Given the description of an element on the screen output the (x, y) to click on. 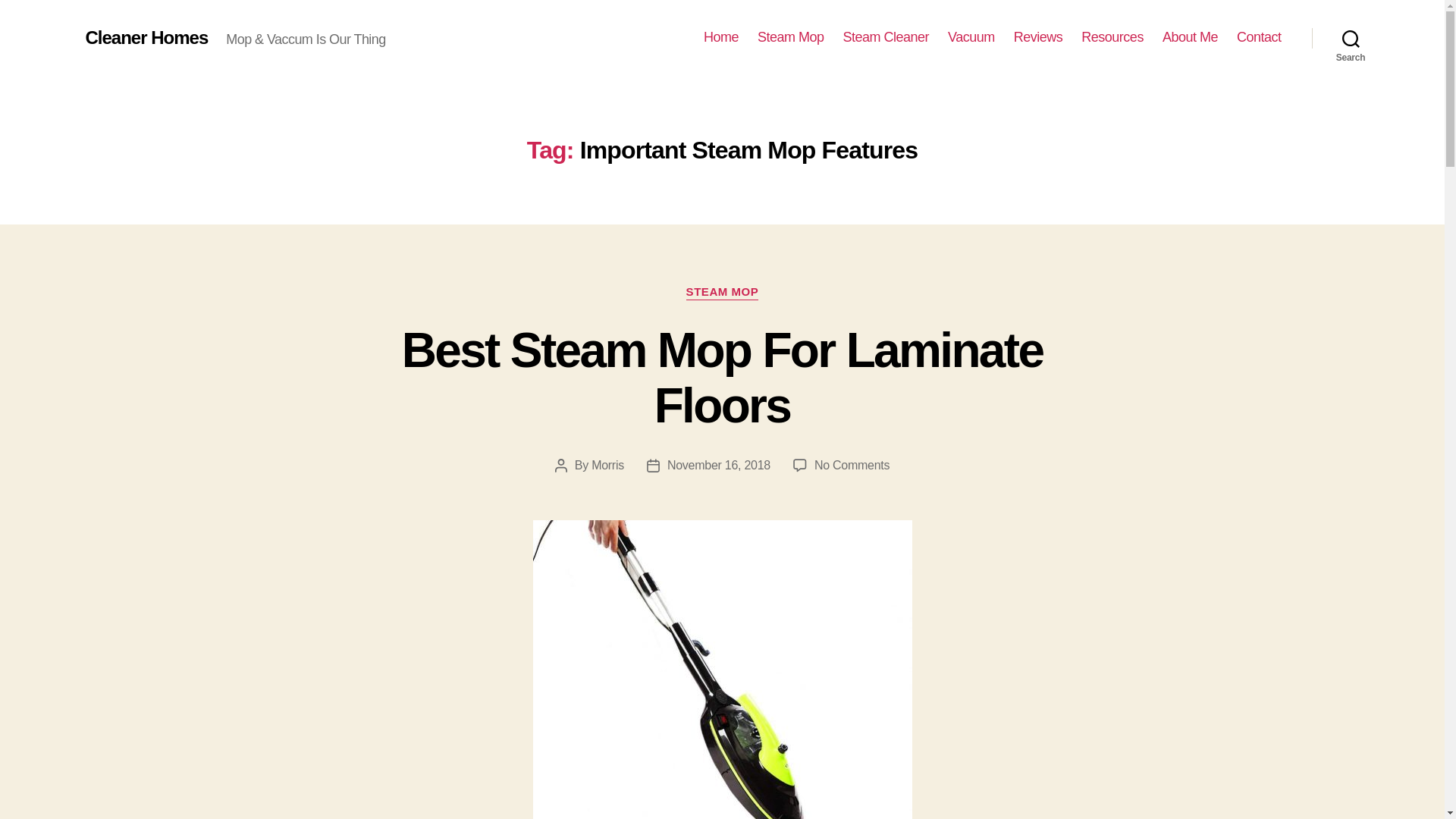
Steam Mop (790, 37)
Search (1350, 37)
November 16, 2018 (718, 464)
STEAM MOP (721, 292)
Steam Cleaner (886, 37)
Morris (607, 464)
Vacuum (970, 37)
Reviews (1037, 37)
Cleaner Homes (146, 37)
Best Steam Mop For Laminate Floors (722, 377)
Resources (1111, 37)
Contact (1258, 37)
About Me (1189, 37)
Home (851, 464)
